Given the description of an element on the screen output the (x, y) to click on. 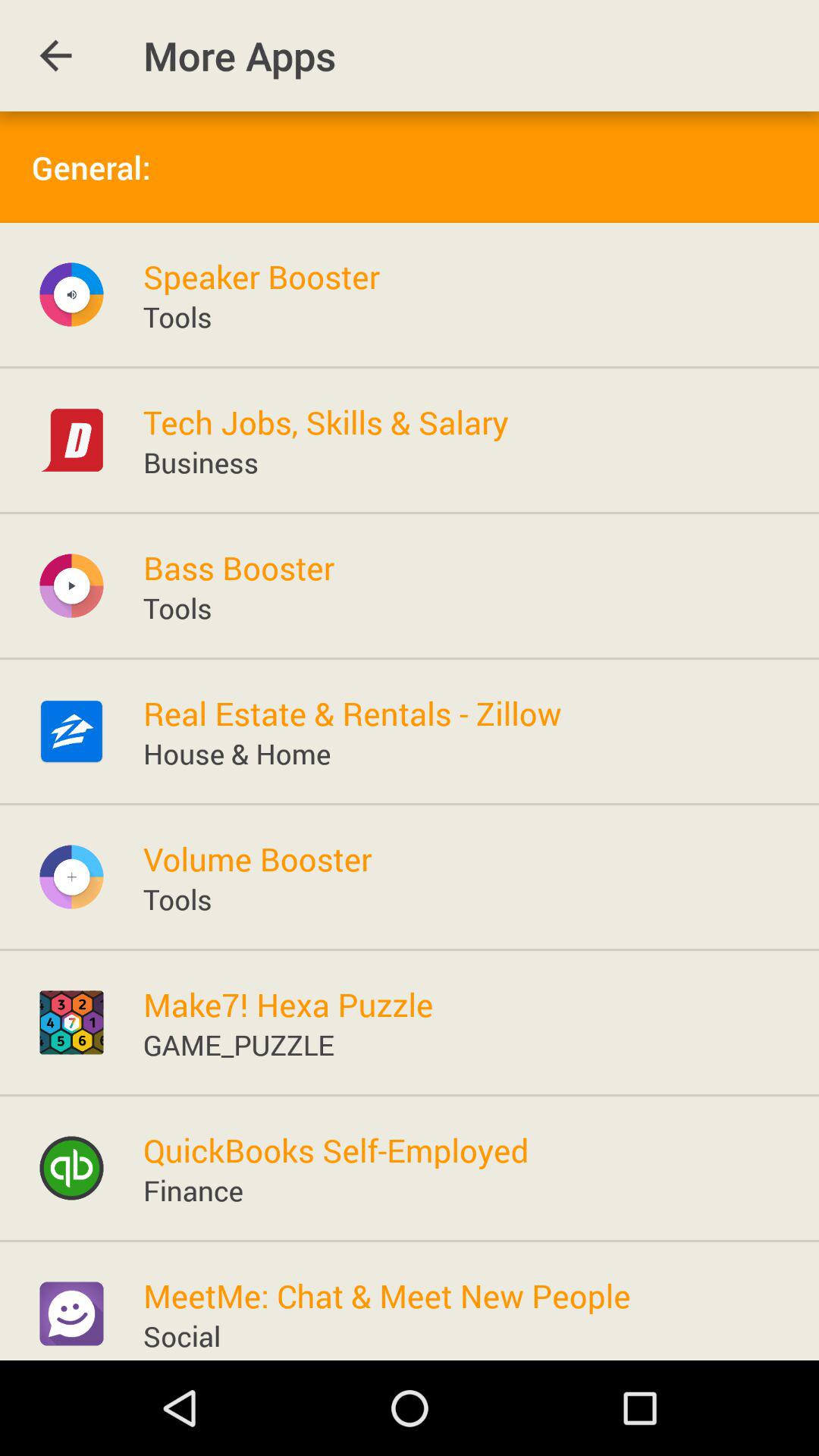
tap game_puzzle icon (238, 1044)
